Given the description of an element on the screen output the (x, y) to click on. 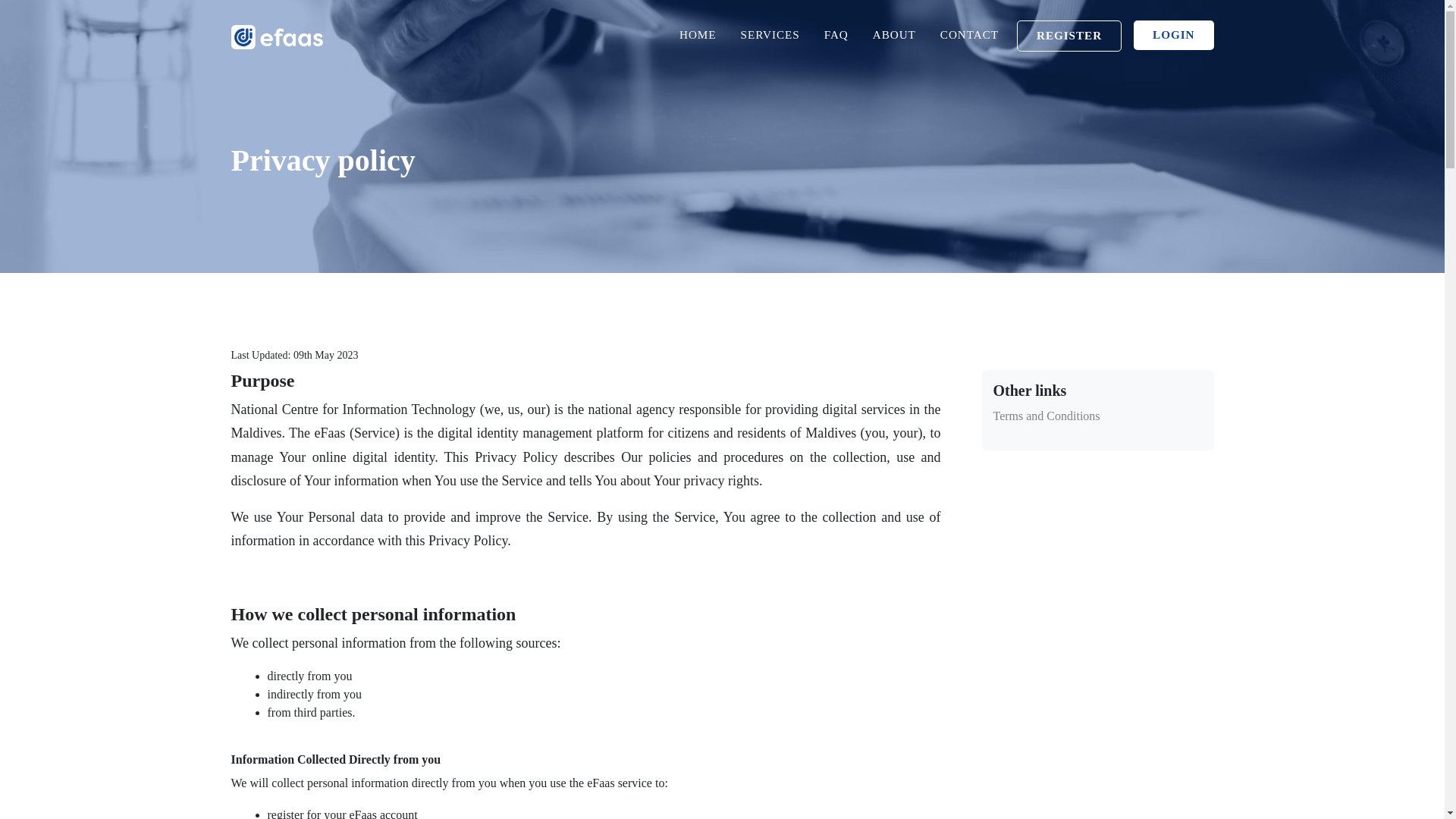
LOGIN (1173, 34)
HOME (697, 34)
ABOUT (893, 34)
Terms and Conditions (1046, 415)
SERVICES (770, 34)
FAQ (836, 34)
CONTACT (969, 34)
REGISTER (1068, 35)
